Given the description of an element on the screen output the (x, y) to click on. 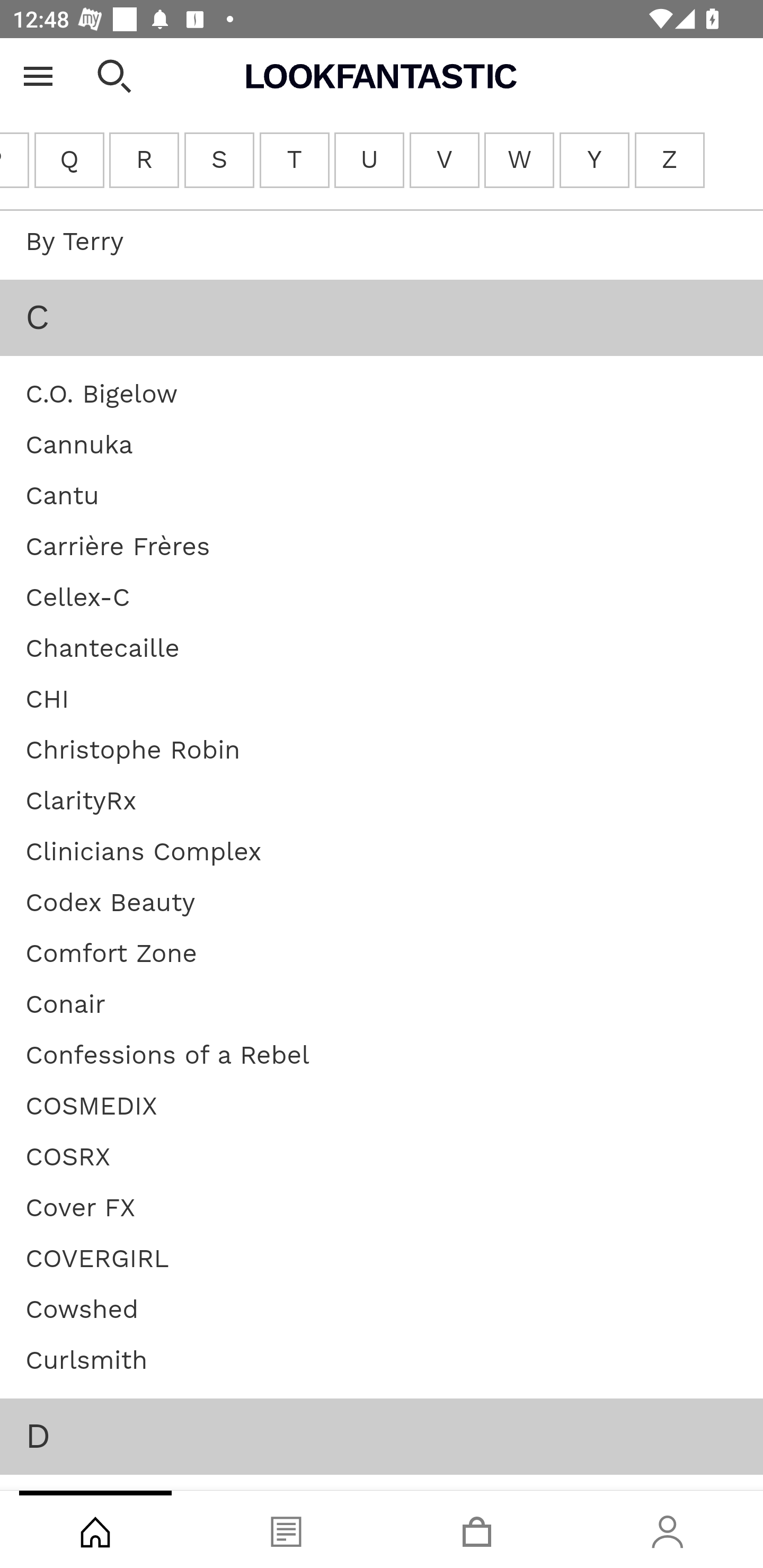
Q (69, 160)
R (143, 160)
S (219, 160)
T (294, 160)
U (369, 160)
V (443, 160)
W (518, 160)
Y (595, 160)
Z (669, 160)
By Terry (74, 242)
C.O. Bigelow (101, 394)
Cannuka (79, 446)
Cantu (62, 496)
Carrière Frères (118, 548)
Cellex-C (77, 598)
Chantecaille (102, 649)
CHI (47, 700)
Christophe Robin (133, 751)
ClarityRx (80, 802)
Clinicians Complex (143, 852)
Codex Beauty (110, 904)
Comfort Zone (111, 954)
Conair (65, 1005)
Confessions of a Rebel (167, 1056)
COSMEDIX (91, 1107)
COSRX (68, 1158)
Cover FX (80, 1208)
COVERGIRL (97, 1260)
Cowshed (82, 1310)
Curlsmith (86, 1361)
Shop, tab, 1 of 4 (95, 1529)
Blog, tab, 2 of 4 (285, 1529)
Basket, tab, 3 of 4 (476, 1529)
Account, tab, 4 of 4 (667, 1529)
